Given the description of an element on the screen output the (x, y) to click on. 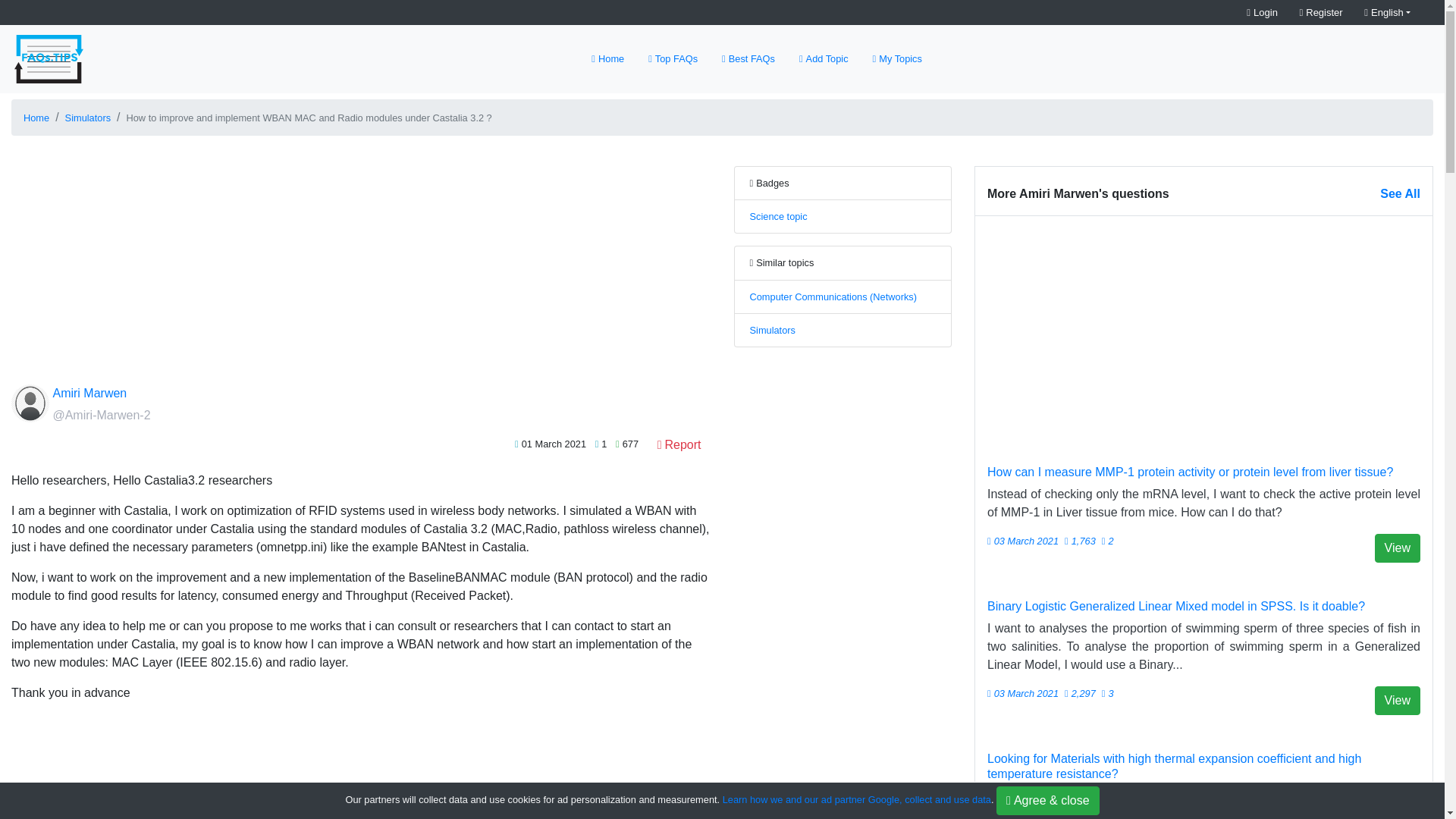
Advertisement (1203, 334)
My Topics (897, 58)
Register (1321, 12)
Simulators (87, 116)
Login (1262, 12)
Top FAQs (672, 58)
Best FAQs (748, 58)
See All (1400, 194)
Add Topic (823, 58)
Advertisement (361, 772)
Home (36, 116)
Simulators (771, 329)
